Given the description of an element on the screen output the (x, y) to click on. 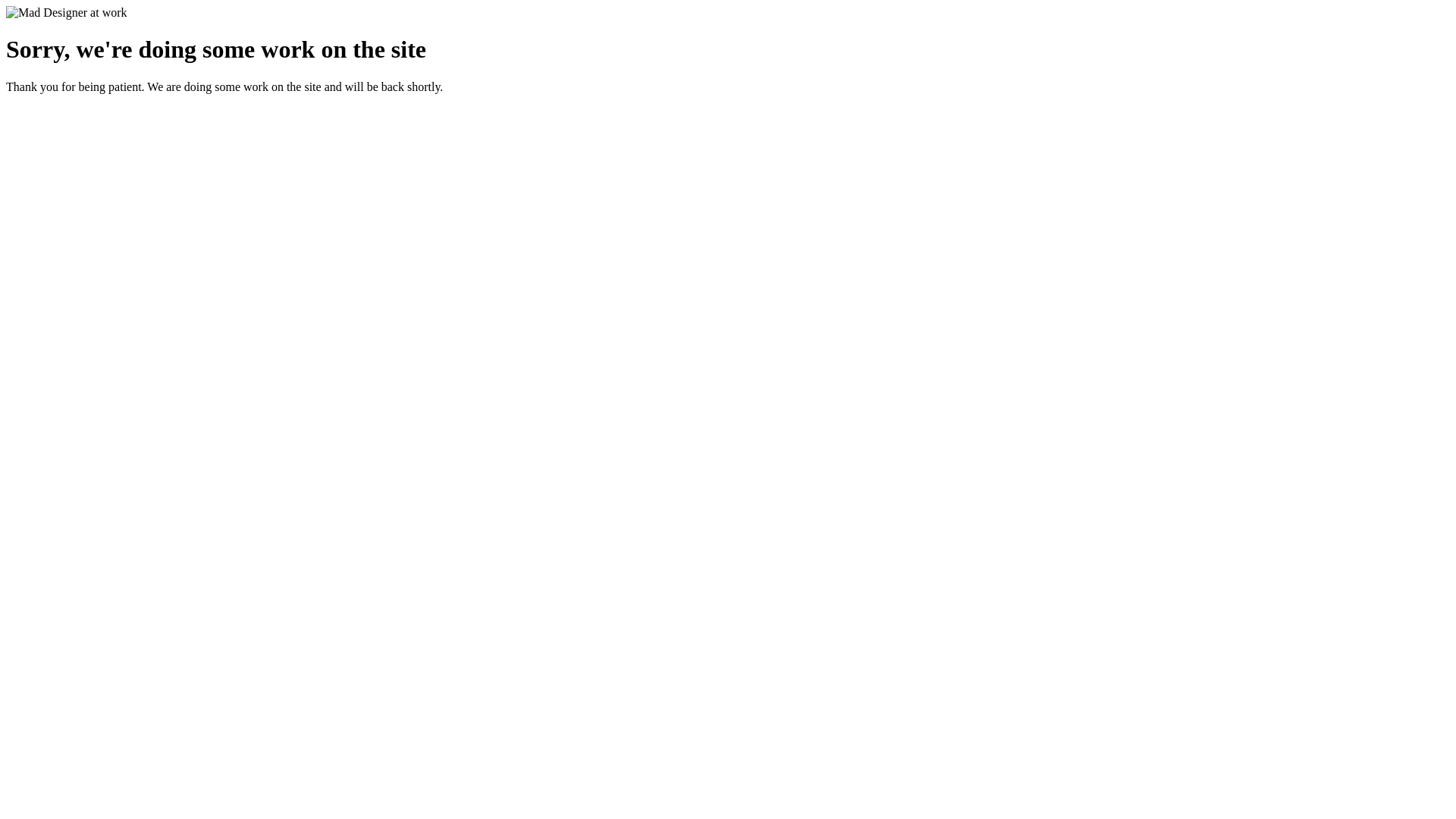
Mad Designer at work Element type: hover (66, 12)
